Given the description of an element on the screen output the (x, y) to click on. 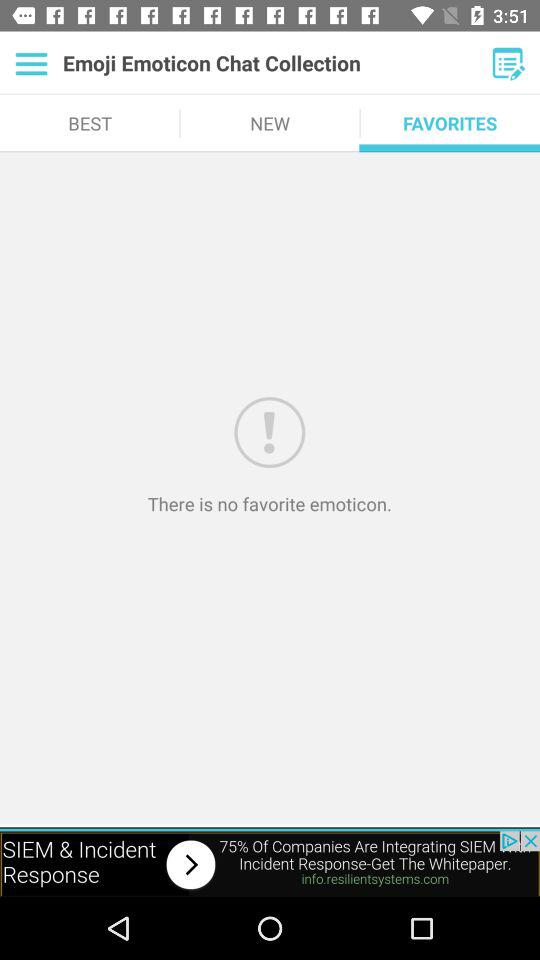
edit the collection (508, 63)
